Given the description of an element on the screen output the (x, y) to click on. 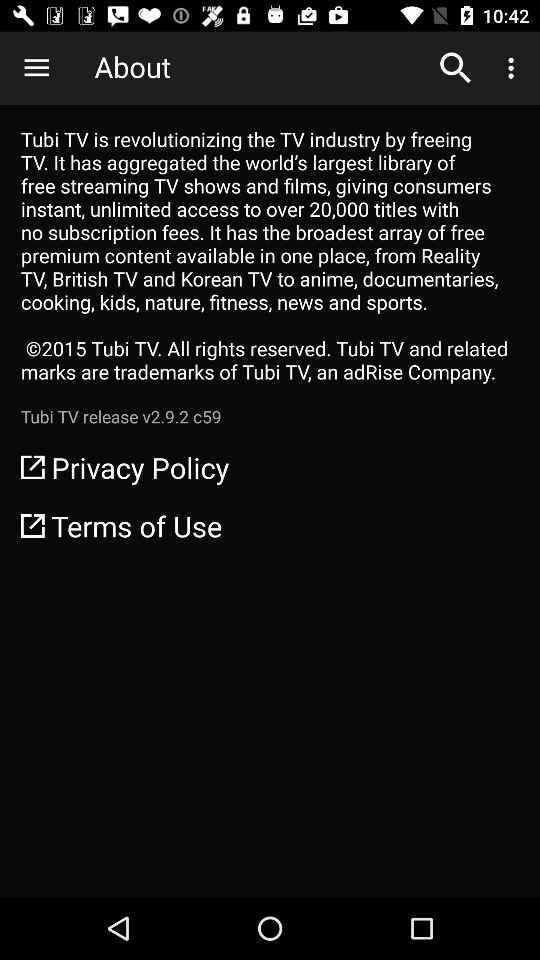
turn off the icon below privacy policy item (270, 525)
